Given the description of an element on the screen output the (x, y) to click on. 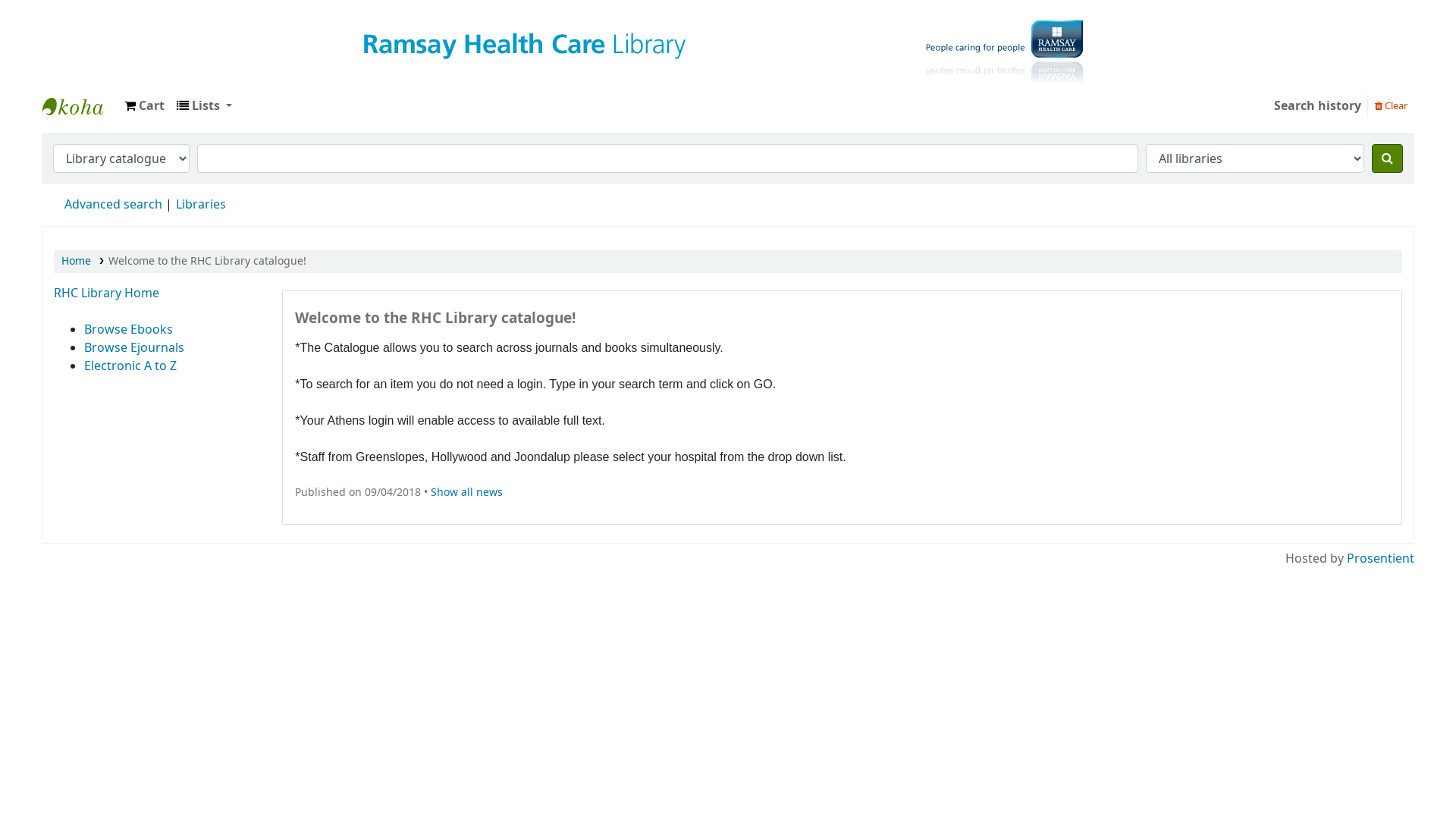
RHC Library Home Element type: text (106, 293)
Lists Element type: text (204, 106)
Electronic A to Z Element type: text (130, 366)
Prosentient Element type: text (1380, 558)
Welcome to the RHC Library catalogue! Element type: text (207, 261)
Home Element type: text (76, 261)
Advanced search Element type: text (113, 204)
Search history Element type: text (1317, 106)
Ramsay Health Care Library Element type: text (80, 106)
Browse Ebooks Element type: text (128, 329)
Show all news Element type: text (466, 492)
Search Element type: hover (1386, 158)
Clear Element type: text (1390, 105)
Browse Ejournals Element type: text (134, 347)
Cart Element type: text (144, 106)
Libraries Element type: text (200, 204)
